Given the description of an element on the screen output the (x, y) to click on. 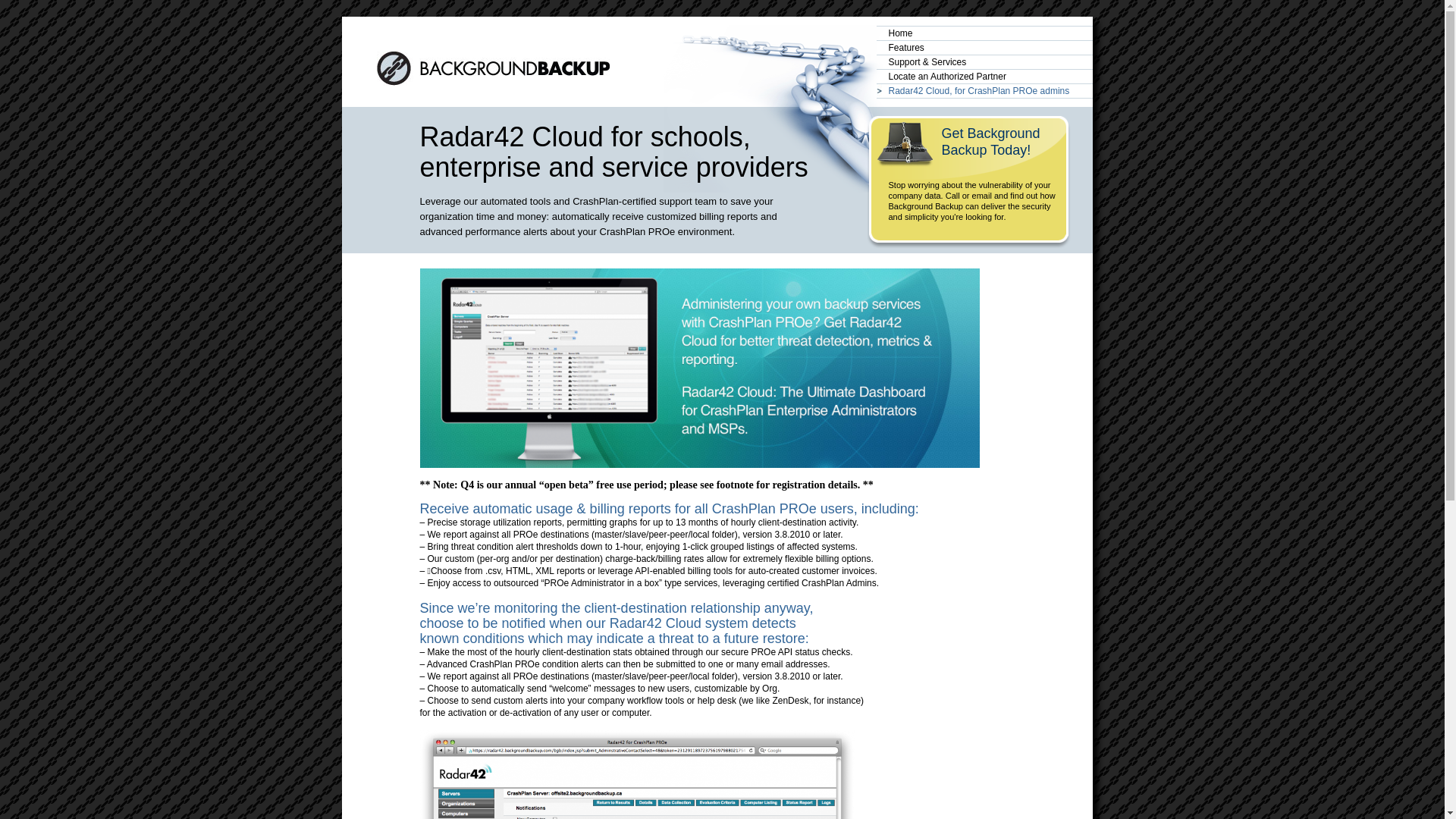
Features Element type: text (984, 47)
Support & Services Element type: text (984, 62)
radar42cloud_banner Element type: hover (699, 367)
Locate an Authorized Partner Element type: text (984, 76)
Radar42 Cloud, for CrashPlan PROe admins Element type: text (984, 91)
Home Element type: text (984, 33)
Background Backup Element type: text (492, 68)
